Given the description of an element on the screen output the (x, y) to click on. 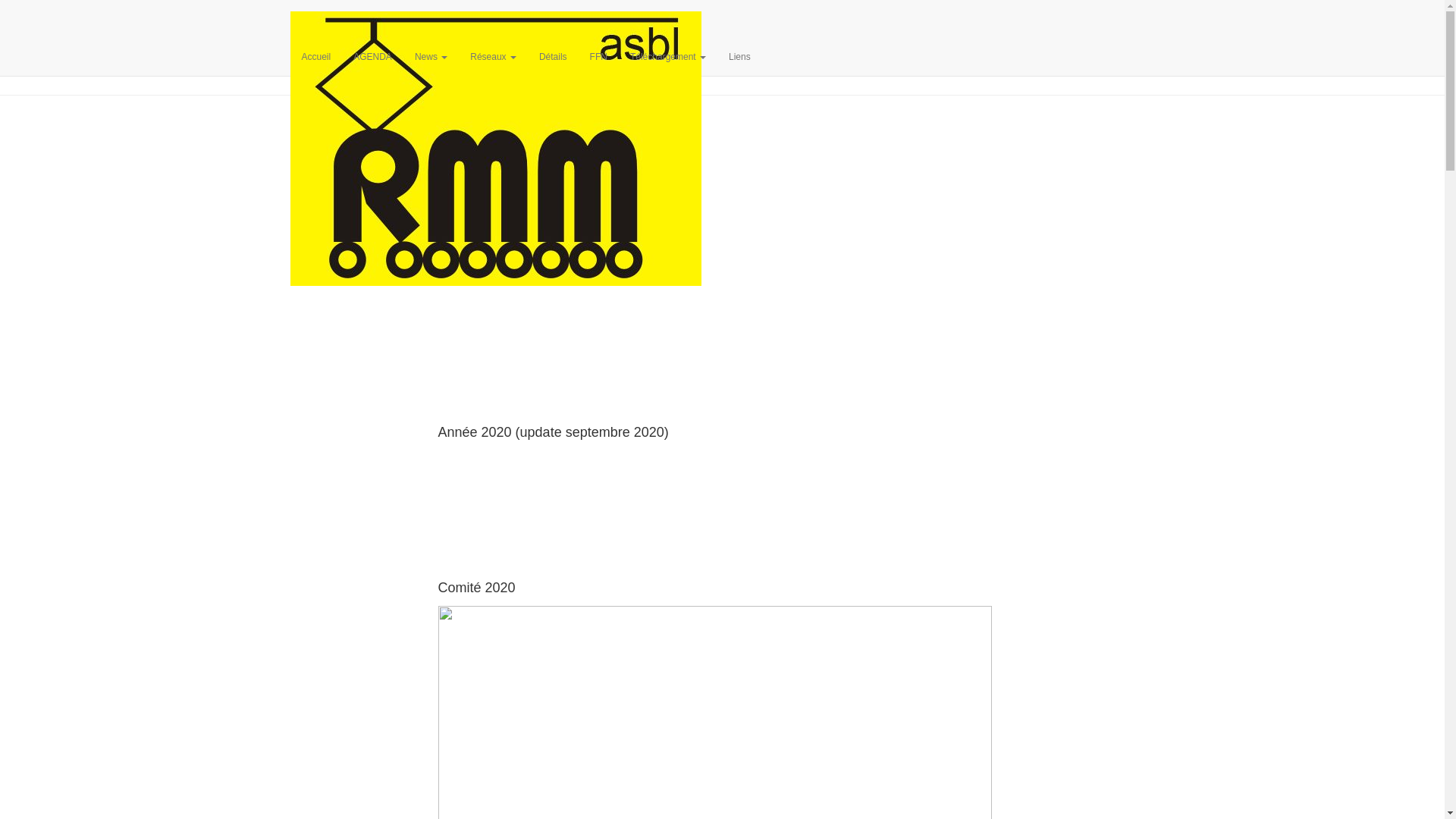
News Element type: text (430, 56)
Accueil Element type: text (315, 56)
AGENDA Element type: text (372, 56)
FFN Element type: text (598, 56)
Club RMM Element type: hover (495, 18)
Liens Element type: text (739, 56)
